Given the description of an element on the screen output the (x, y) to click on. 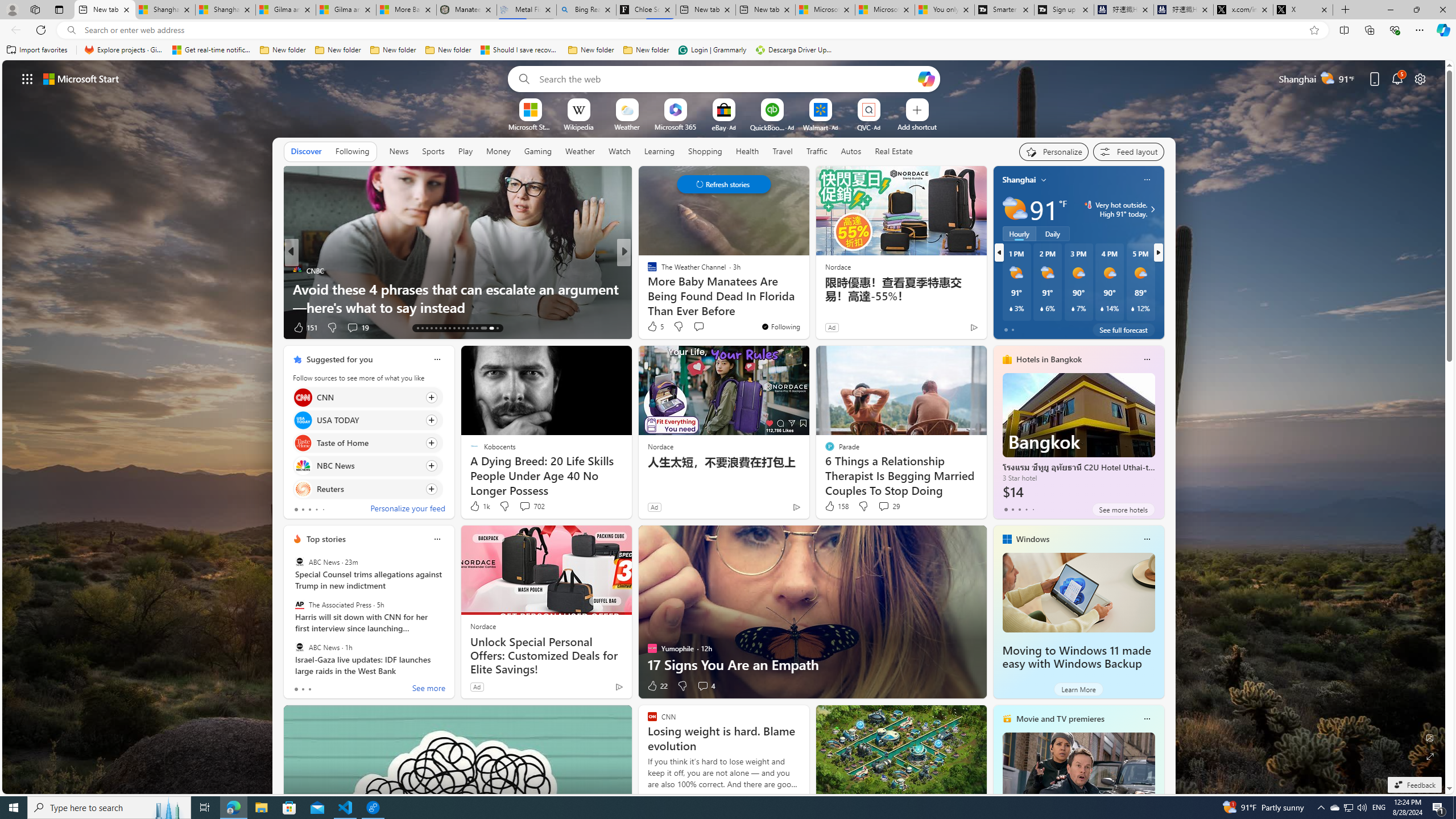
View comments 29 Comment (883, 505)
Windows (1032, 538)
AutomationID: tab-17 (435, 328)
Shopping (705, 151)
158 Like (835, 505)
tab-0 (295, 689)
Click to follow source USA TODAY (367, 419)
NBC News (302, 466)
View comments 702 Comment (530, 505)
The Associated Press (299, 604)
Money (497, 151)
